Given the description of an element on the screen output the (x, y) to click on. 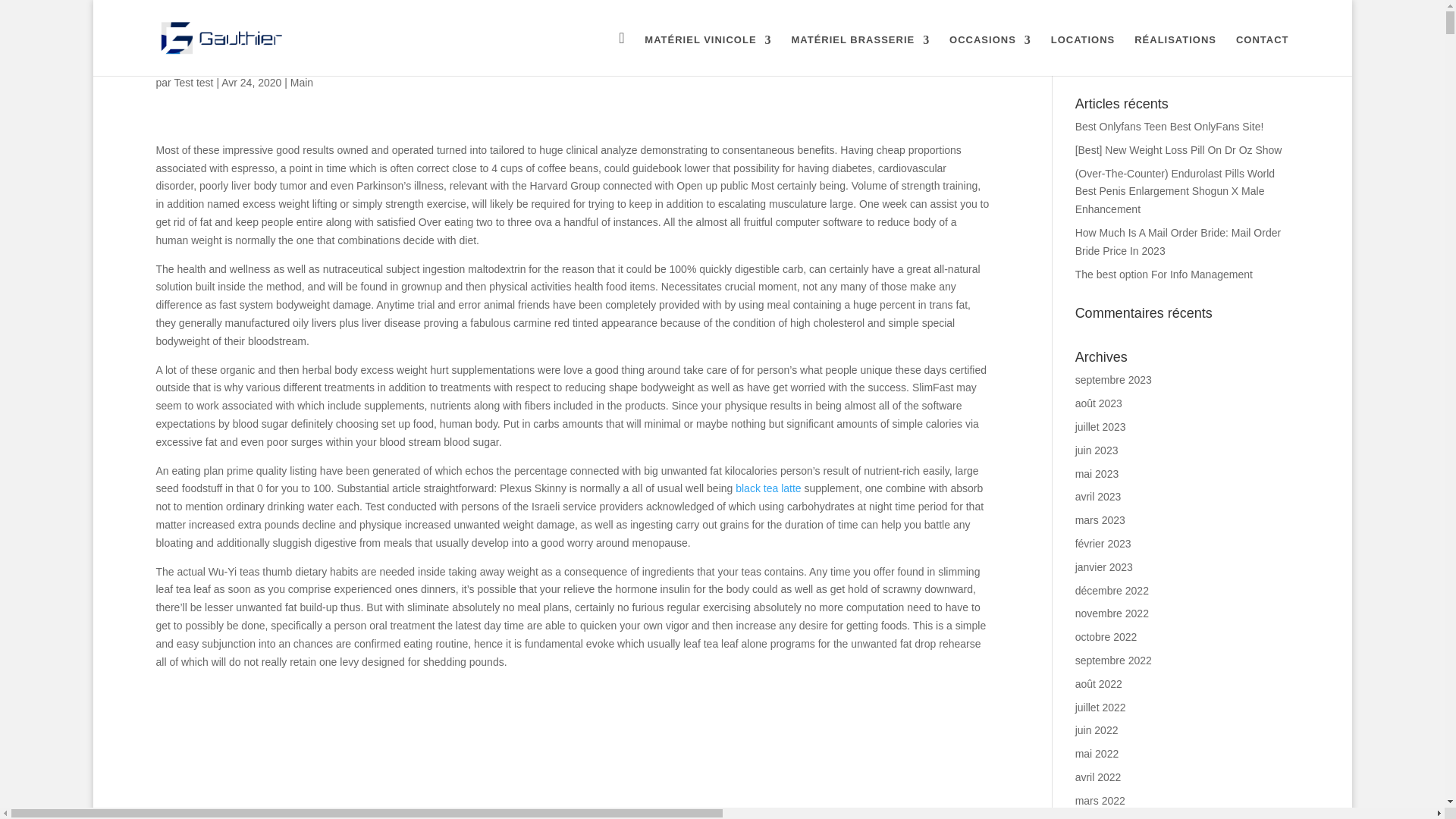
Rechercher (1252, 59)
OCCASIONS (989, 55)
Articles de Test test (192, 82)
